Given the description of an element on the screen output the (x, y) to click on. 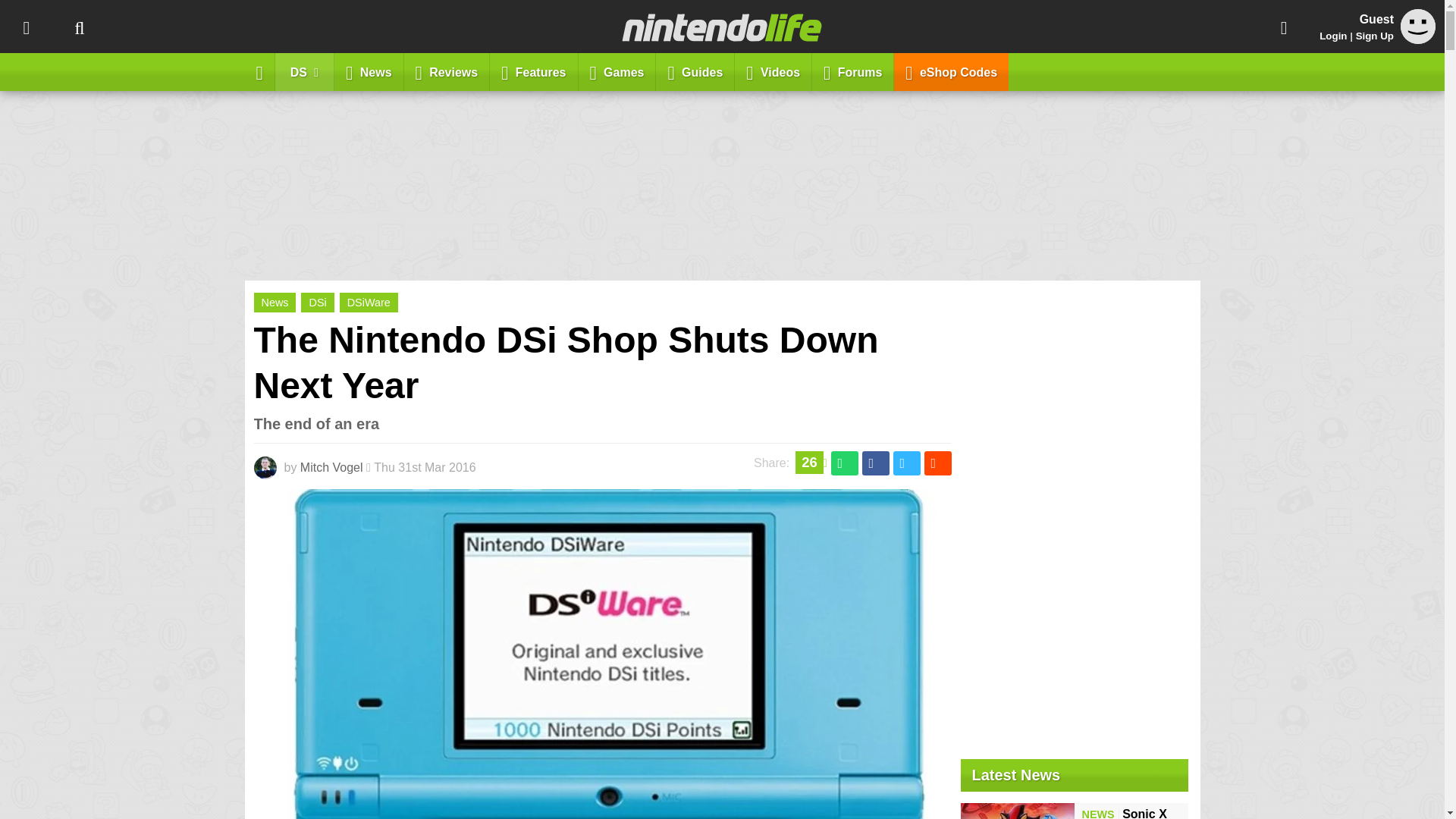
Search (79, 26)
Share this on Twitter (906, 463)
Share This Page (1283, 26)
Reviews (447, 71)
Share this on Facebook (874, 463)
News (274, 302)
Guest (1417, 39)
DS (304, 71)
Login (1332, 35)
Videos (773, 71)
Guides (695, 71)
Nintendo Life (721, 27)
Share this on Reddit (936, 463)
Nintendo Life (721, 27)
Features (533, 71)
